Given the description of an element on the screen output the (x, y) to click on. 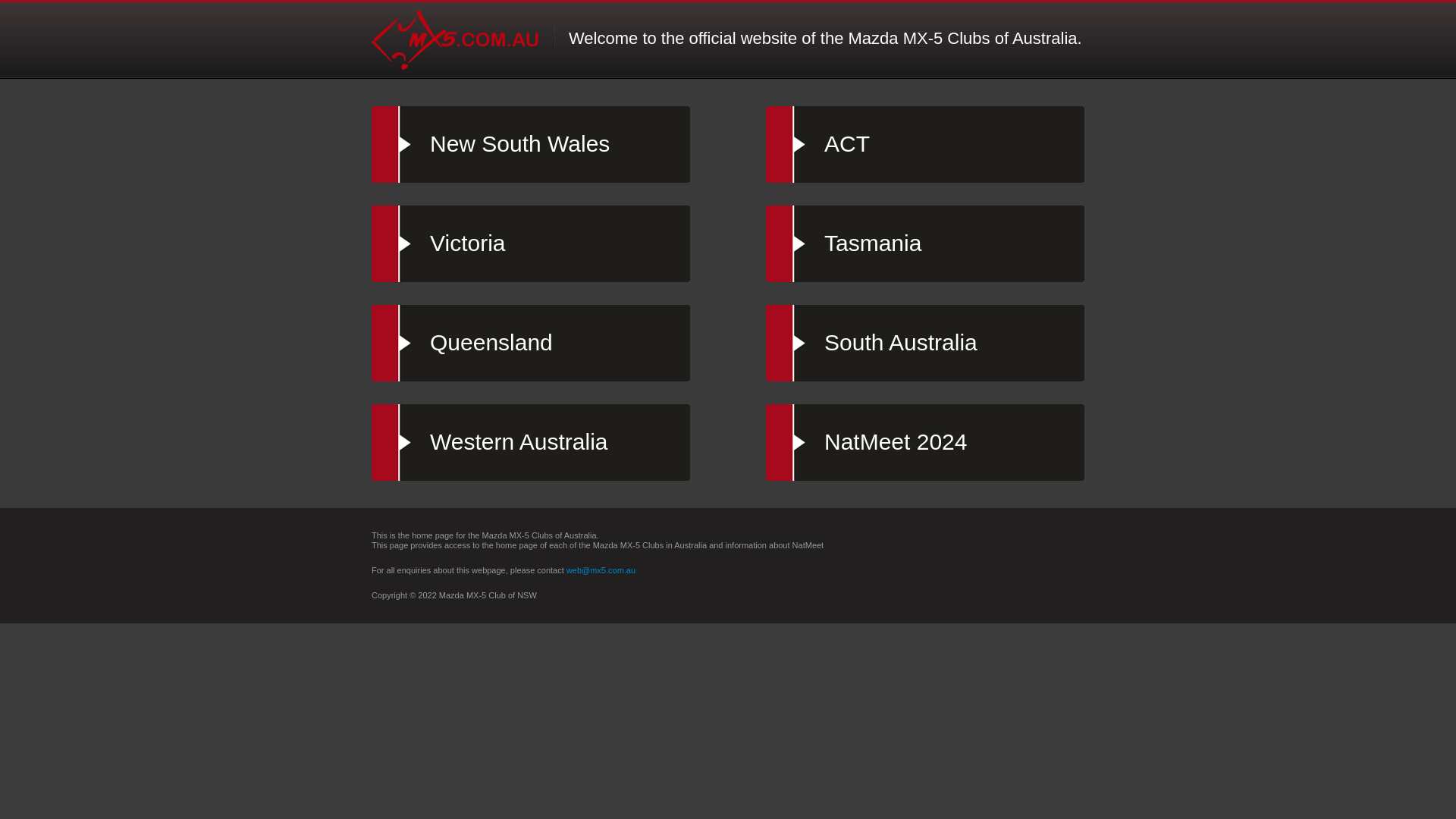
Tasmania Element type: text (924, 243)
Victoria Element type: text (530, 243)
ACT Element type: text (924, 144)
New South Wales Element type: text (530, 144)
NatMeet 2024 Element type: text (924, 442)
Queensland Element type: text (530, 342)
Western Australia Element type: text (530, 442)
South Australia Element type: text (924, 342)
web@mx5.com.au Element type: text (600, 569)
